Given the description of an element on the screen output the (x, y) to click on. 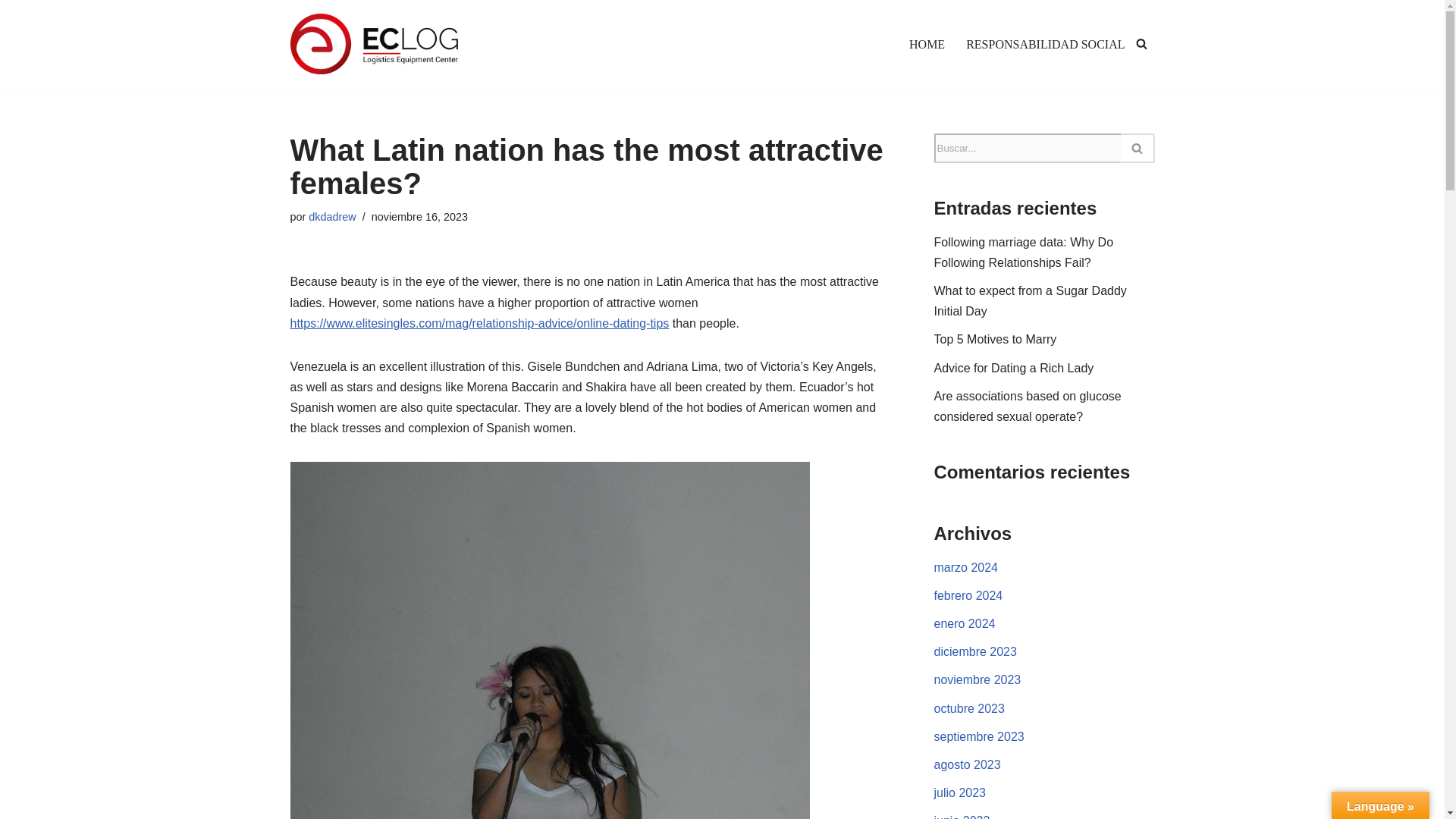
What to expect from a Sugar Daddy Initial Day (1030, 300)
HOME (926, 44)
RESPONSABILIDAD SOCIAL (1045, 44)
marzo 2024 (966, 567)
Top 5 Motives to Marry (995, 338)
noviembre 2023 (978, 679)
Are associations based on glucose considered sexual operate? (1027, 406)
Entradas de dkdadrew (331, 216)
dkdadrew (331, 216)
enero 2024 (964, 623)
diciembre 2023 (975, 651)
febrero 2024 (968, 594)
julio 2023 (960, 792)
Saltar al contenido (11, 31)
